Given the description of an element on the screen output the (x, y) to click on. 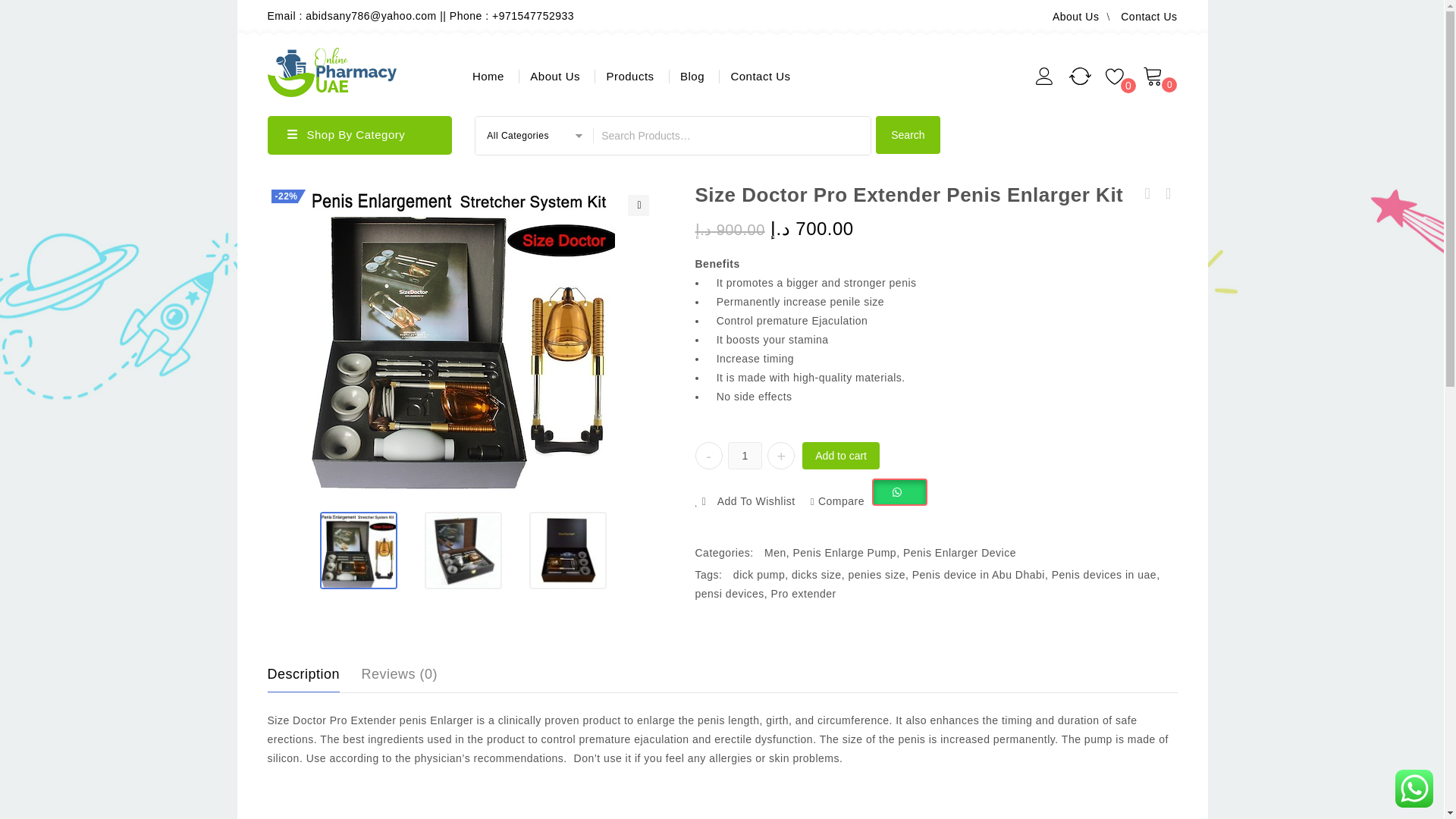
Blog (692, 76)
1 (744, 455)
About Us (1075, 16)
Contact Us (760, 76)
size-doctor-pro-extender-penis-enlarger-kit (462, 336)
Qty (744, 455)
Home (482, 76)
- (708, 455)
Online Pharmacy UAE (331, 69)
About Us (554, 76)
Search (907, 134)
Search for: (732, 135)
Products (629, 76)
Contact Us (1148, 16)
